Given the description of an element on the screen output the (x, y) to click on. 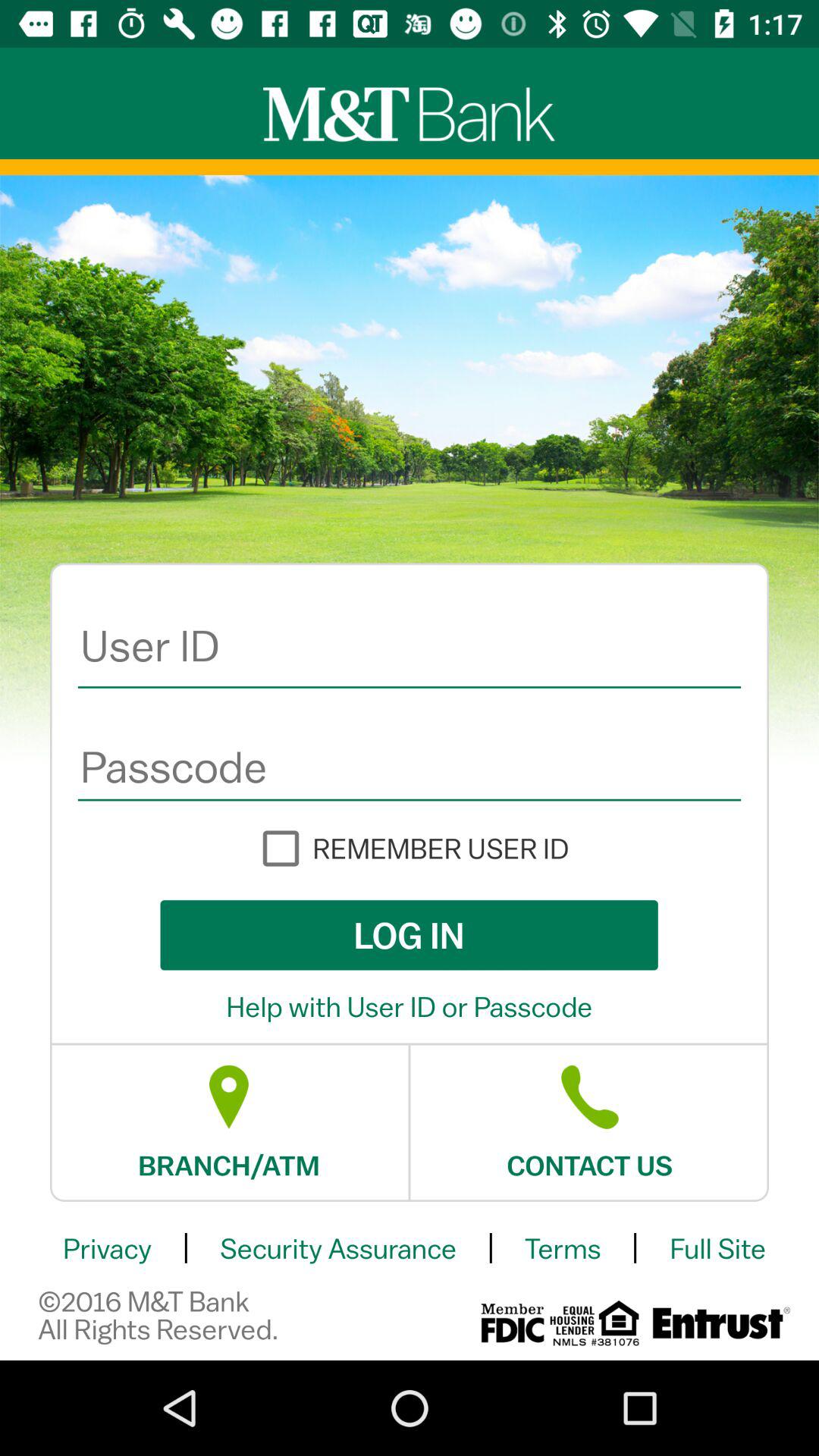
scroll to the privacy icon (107, 1247)
